Given the description of an element on the screen output the (x, y) to click on. 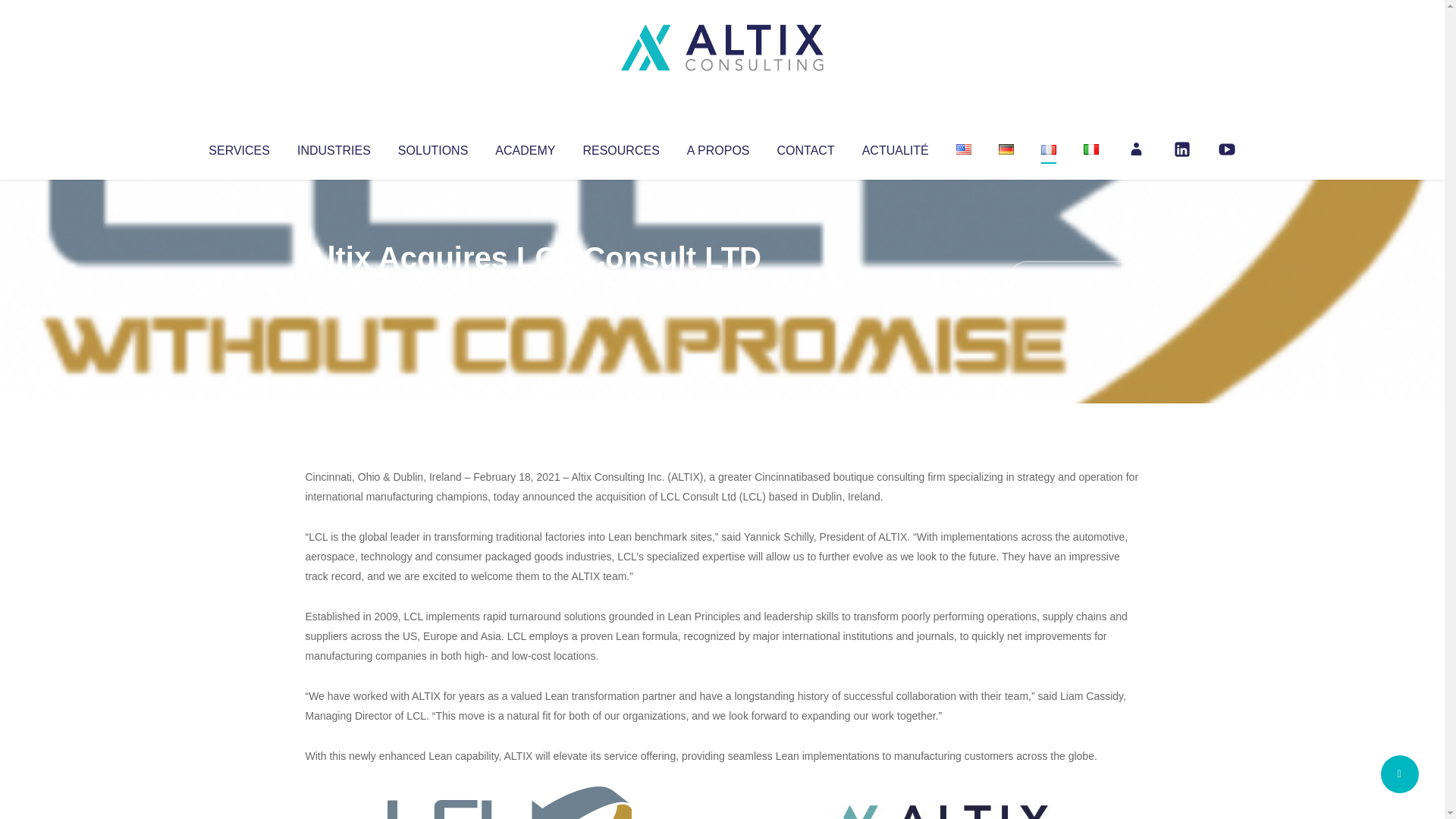
Uncategorized (530, 287)
ACADEMY (524, 146)
RESOURCES (620, 146)
INDUSTRIES (334, 146)
Articles par Altix (333, 287)
SOLUTIONS (432, 146)
SERVICES (238, 146)
Altix (333, 287)
A PROPOS (718, 146)
No Comments (1073, 278)
